Given the description of an element on the screen output the (x, y) to click on. 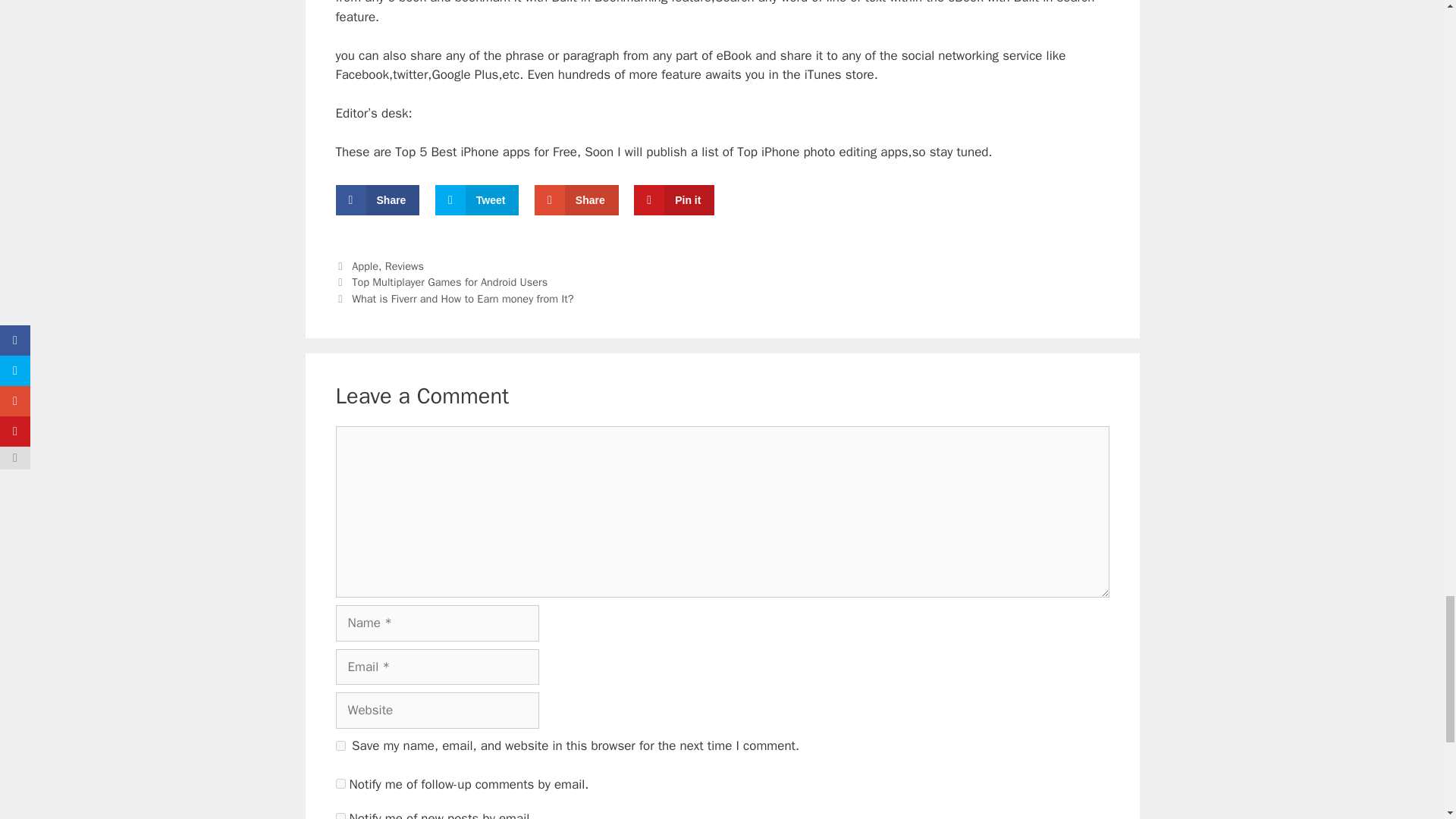
yes (339, 746)
subscribe (339, 816)
subscribe (339, 783)
